Given the description of an element on the screen output the (x, y) to click on. 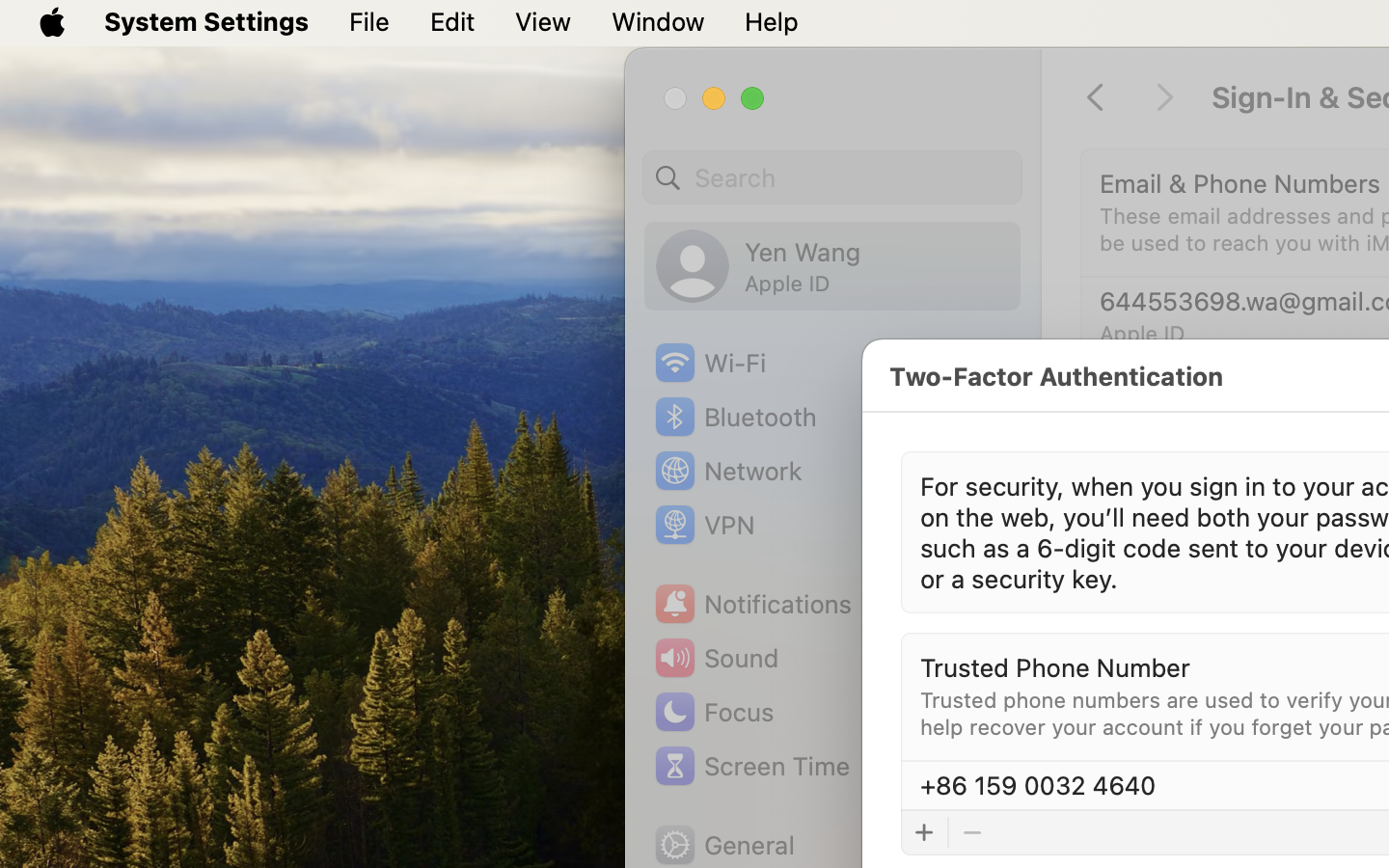
Password Element type: AXStaticText (1155, 535)
‪+86 159 0032 4640‬ Element type: AXStaticText (1037, 784)
